Given the description of an element on the screen output the (x, y) to click on. 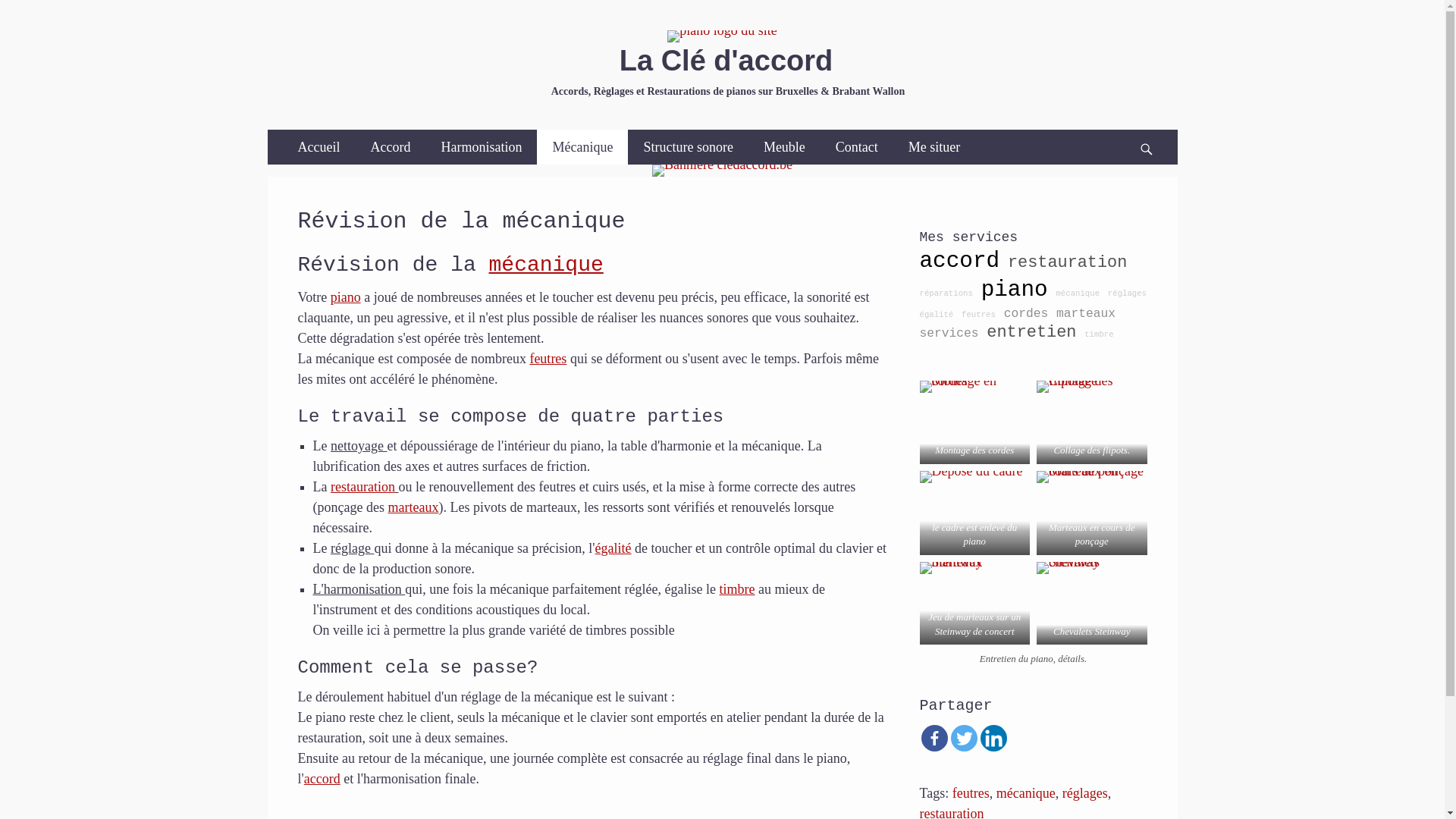
piano Element type: text (345, 296)
Structure sonore Element type: text (687, 146)
Meuble Element type: text (784, 146)
timbre Element type: text (1098, 333)
accord Element type: text (322, 778)
feutres Element type: text (547, 358)
Accord Element type: text (389, 146)
Recherche Element type: text (1152, 128)
timbre Element type: text (737, 588)
restauration Element type: text (362, 486)
entretien Element type: text (1031, 332)
Me situer Element type: text (934, 146)
marteaux Element type: text (412, 506)
Twitter Element type: hover (963, 737)
accord Element type: text (959, 260)
cordes Element type: text (1026, 313)
Contact Element type: text (856, 146)
restauration Element type: text (1066, 262)
feutres Element type: text (970, 792)
Accueil Element type: text (318, 146)
Harmonisation Element type: text (480, 146)
marteaux Element type: text (1085, 313)
Linkedin Element type: hover (992, 737)
Facebook Element type: hover (933, 737)
services Element type: text (948, 333)
feutres Element type: text (978, 314)
piano Element type: text (1014, 289)
